Given the description of an element on the screen output the (x, y) to click on. 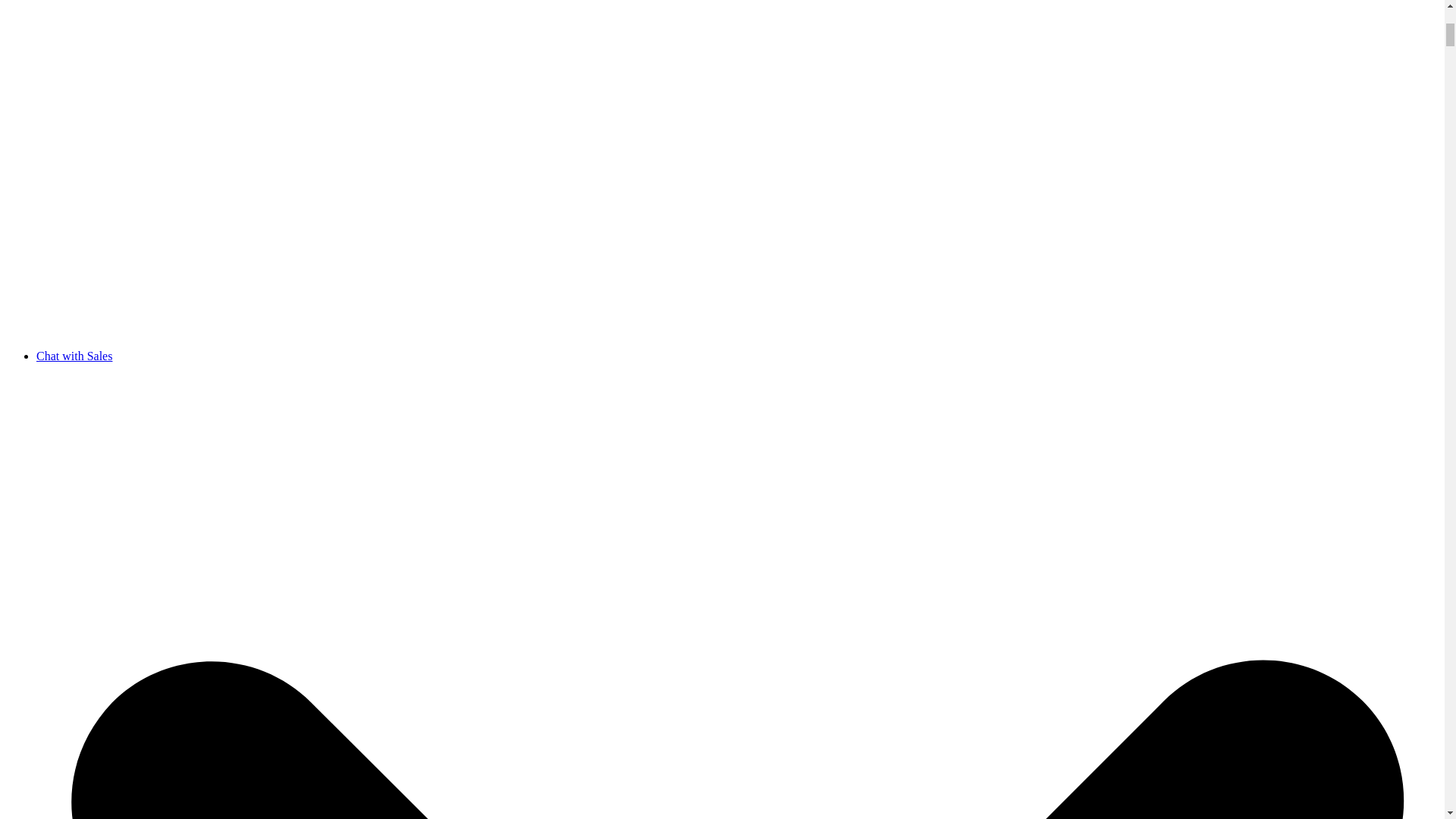
Chat with Sales (74, 354)
